Given the description of an element on the screen output the (x, y) to click on. 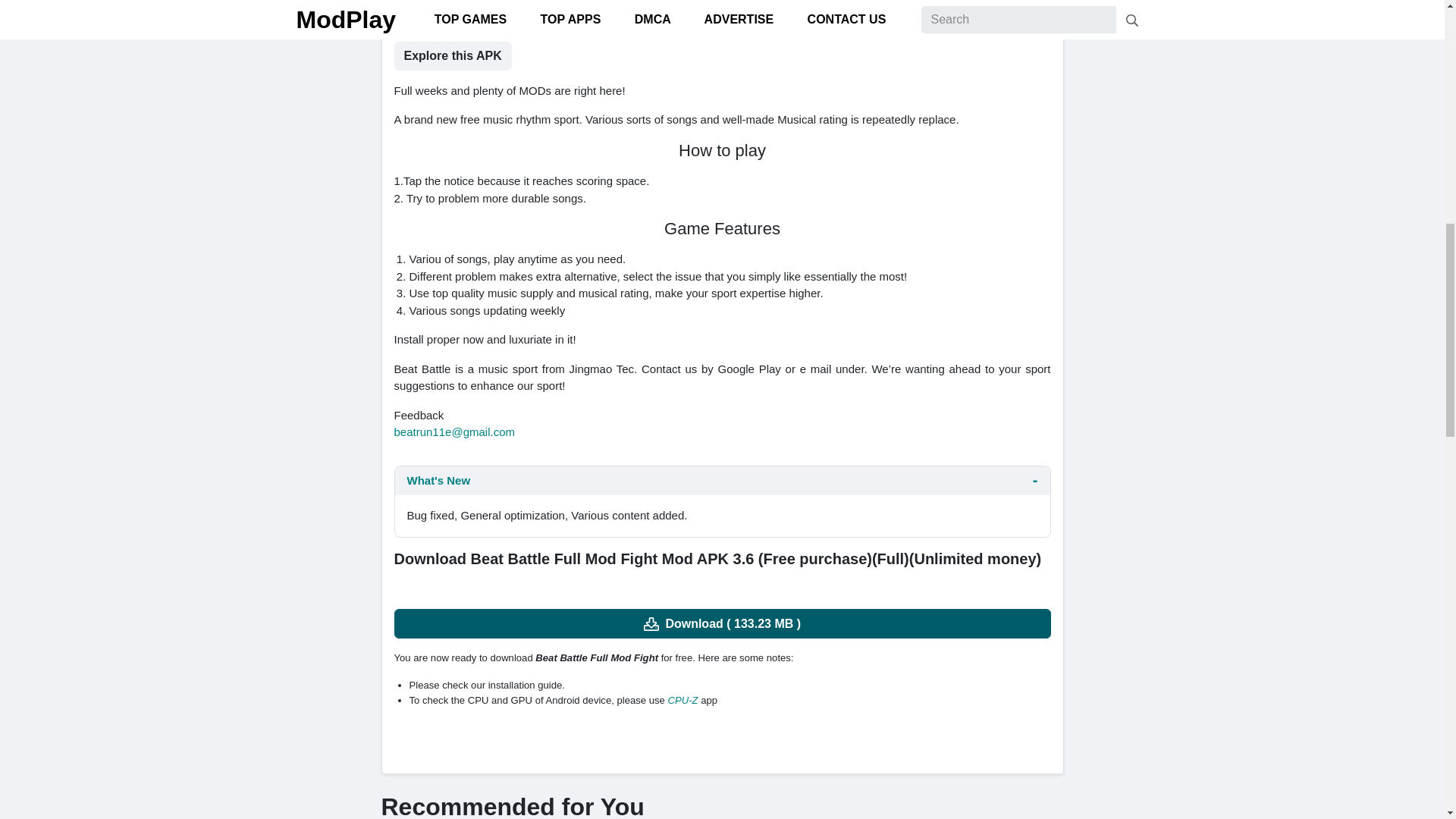
Explore this APK (453, 55)
What's New (721, 481)
CPU-Z (683, 699)
